Given the description of an element on the screen output the (x, y) to click on. 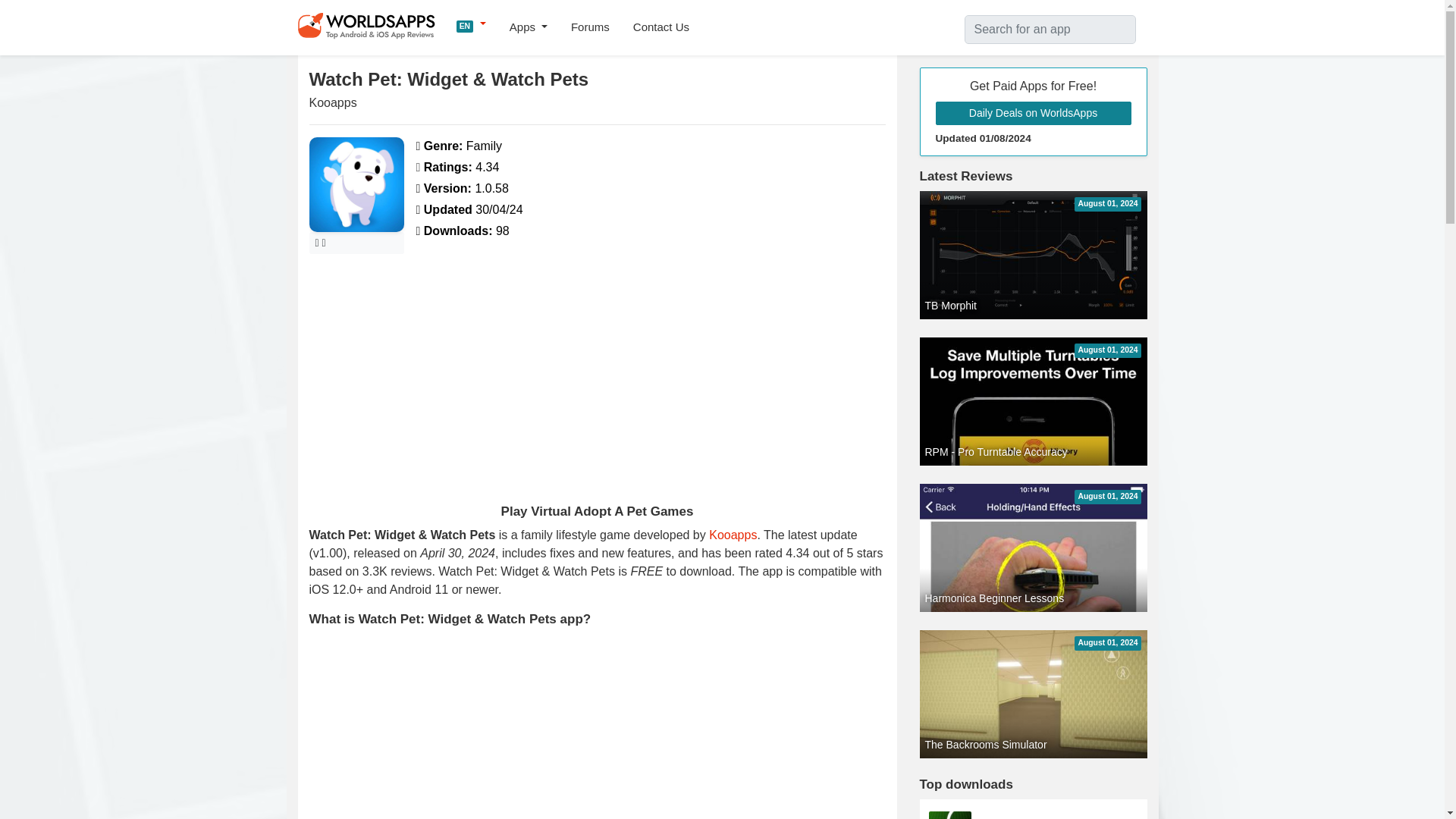
Harmonica Beginner Lessons (1032, 684)
Daily Deals on WorldsApps (1033, 113)
Download RPM - Pro Turntable Accuracy App (1032, 538)
EN (471, 24)
Kooapps (733, 534)
RPM - Pro Turntable Accuracy (1032, 538)
oO (1032, 815)
Download oO App (1032, 815)
Download TB Morphit App (1032, 254)
Download The Backrooms Simulator App (1032, 693)
